Given the description of an element on the screen output the (x, y) to click on. 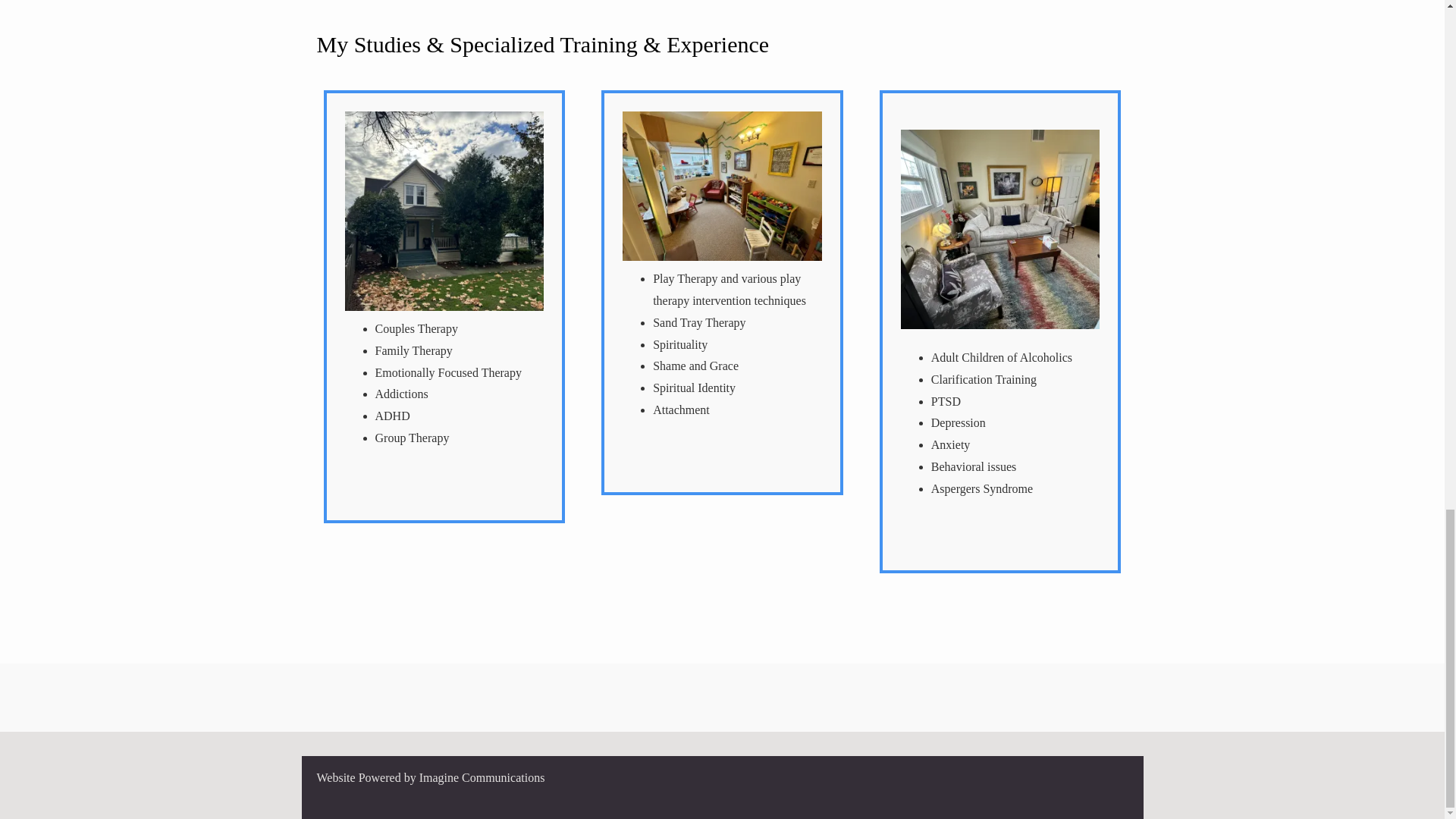
Website Powered by Imagine Communications (430, 777)
